Given the description of an element on the screen output the (x, y) to click on. 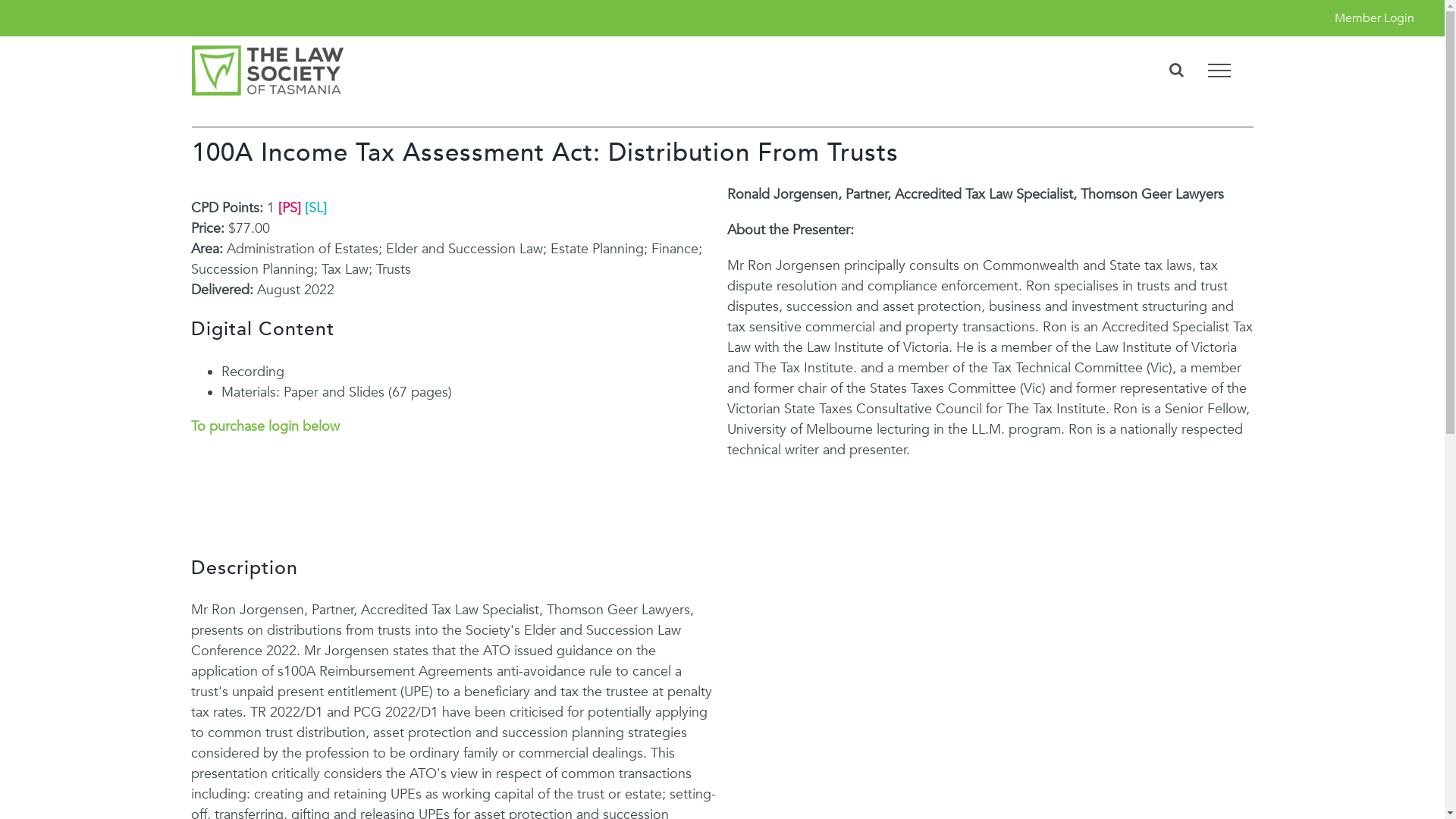
Member Login Element type: text (1374, 17)
